Given the description of an element on the screen output the (x, y) to click on. 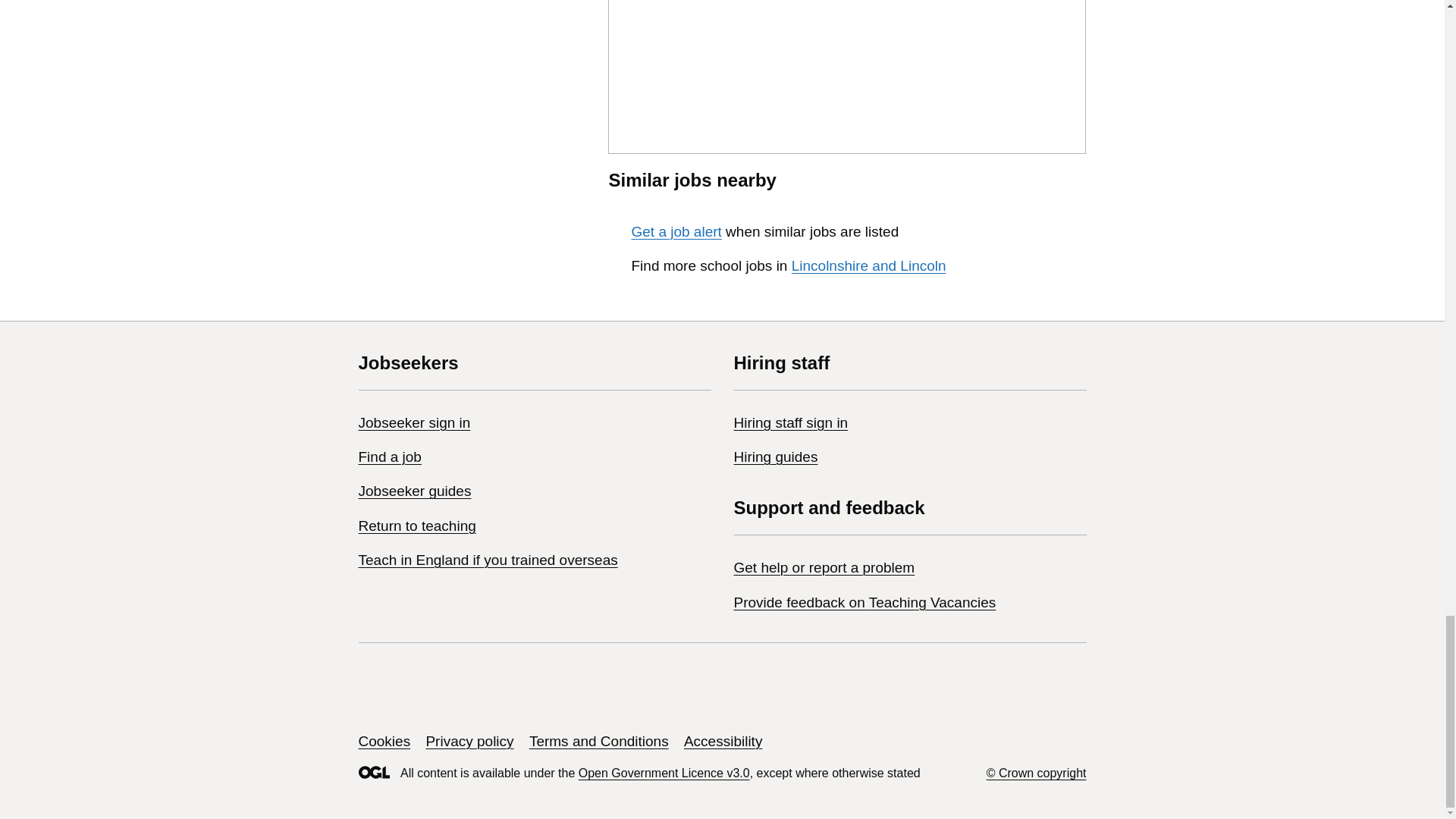
Teach in England if you trained overseas (487, 560)
Terms and Conditions (598, 741)
Provide feedback on Teaching Vacancies (864, 602)
Jobseeker guides (414, 490)
Get help or report a problem (824, 567)
Lincolnshire and Lincoln (869, 265)
Cookies (384, 741)
Jobseeker sign in (414, 422)
Privacy policy (469, 741)
Get a job alert (675, 231)
